Given the description of an element on the screen output the (x, y) to click on. 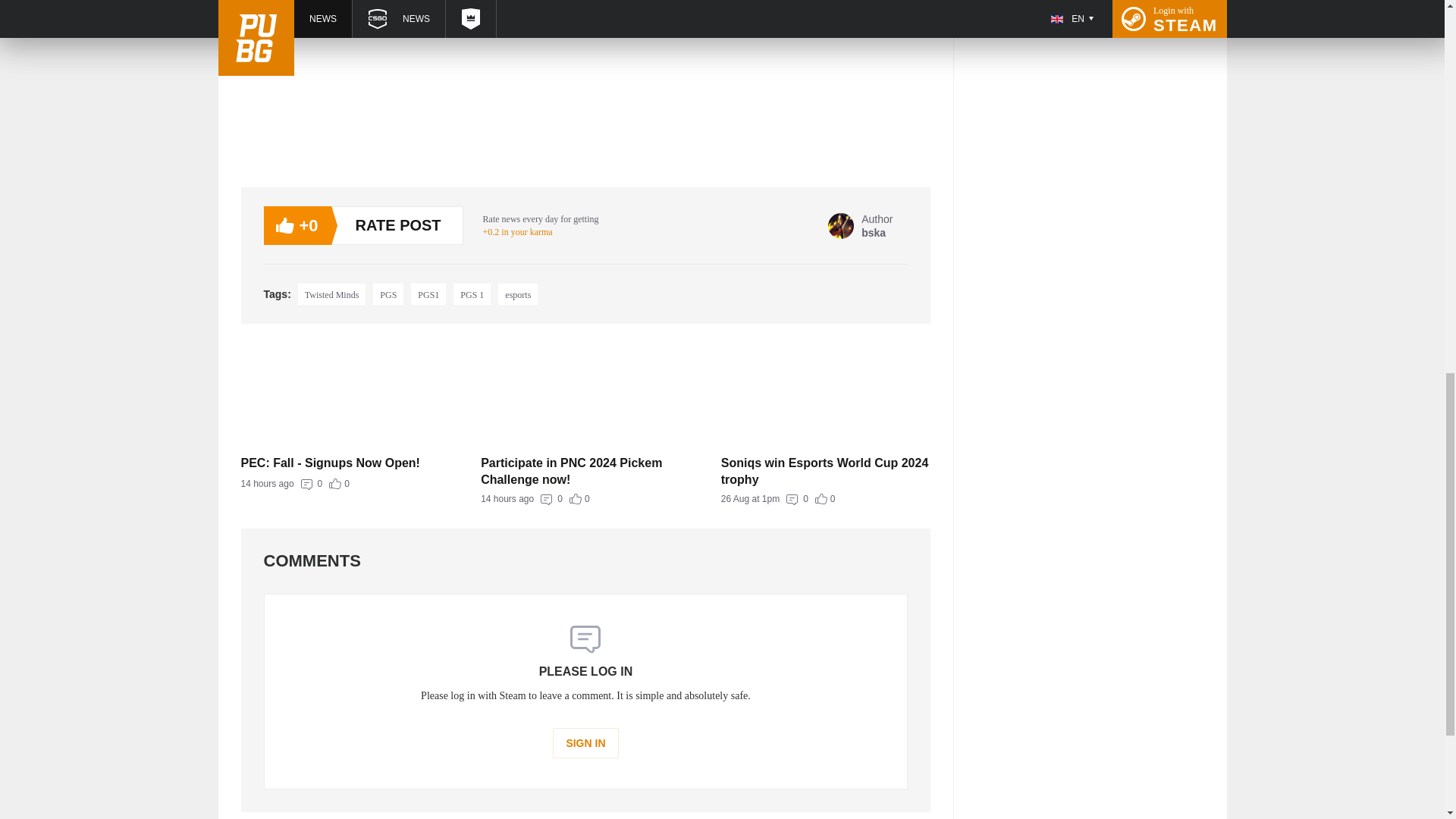
Twisted Minds (860, 225)
esports (332, 293)
PEC: Fall - Signups Now Open! (346, 483)
Soniqs win Esports World Cup 2024 trophy (517, 293)
Participate in PNC 2024 Pickem Challenge now! (585, 499)
PGS 1 (346, 463)
